Given the description of an element on the screen output the (x, y) to click on. 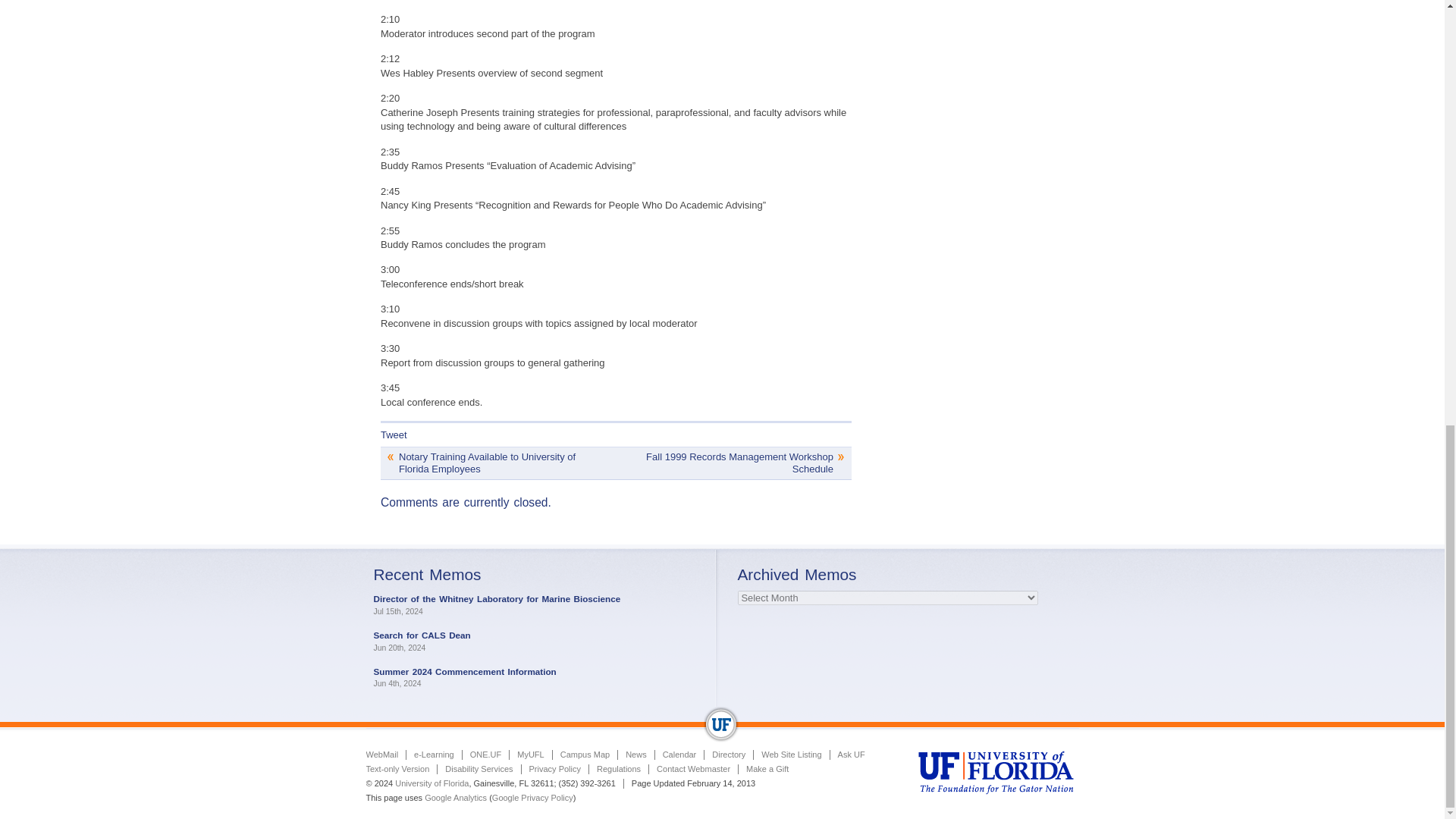
Text-only version of this website (397, 768)
